Given the description of an element on the screen output the (x, y) to click on. 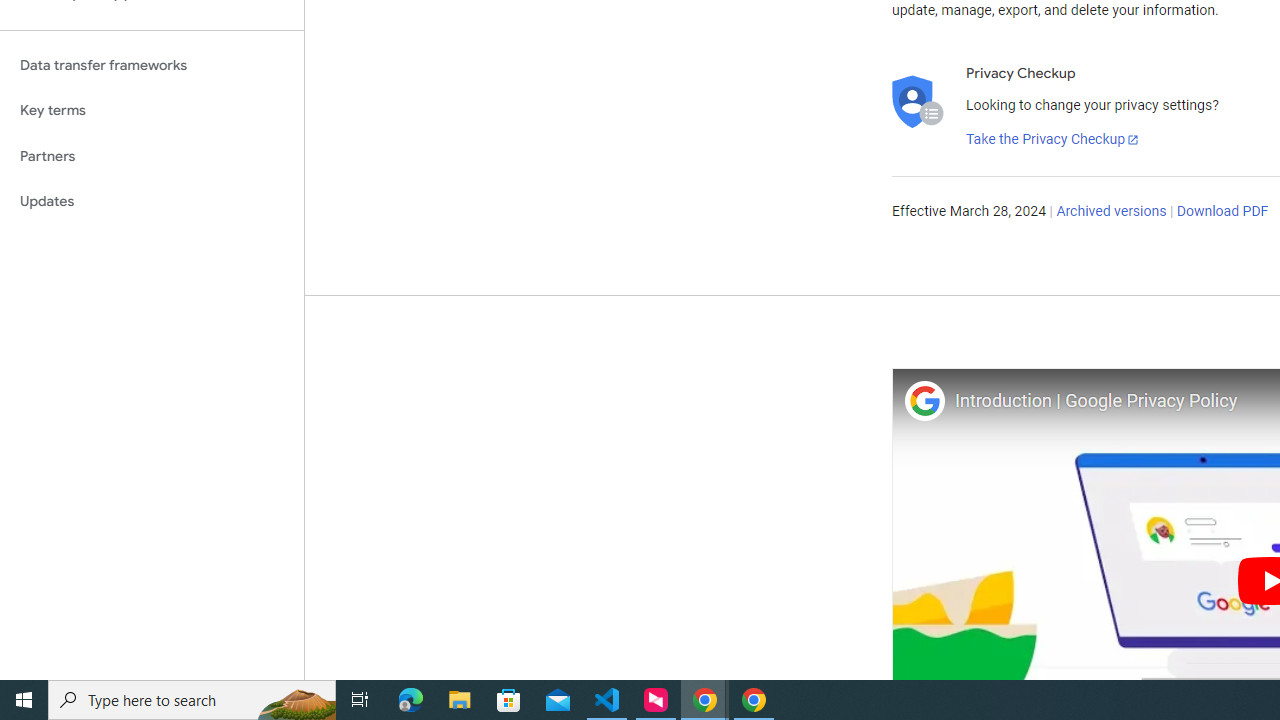
Photo image of Google (924, 400)
Take the Privacy Checkup (1053, 140)
